Given the description of an element on the screen output the (x, y) to click on. 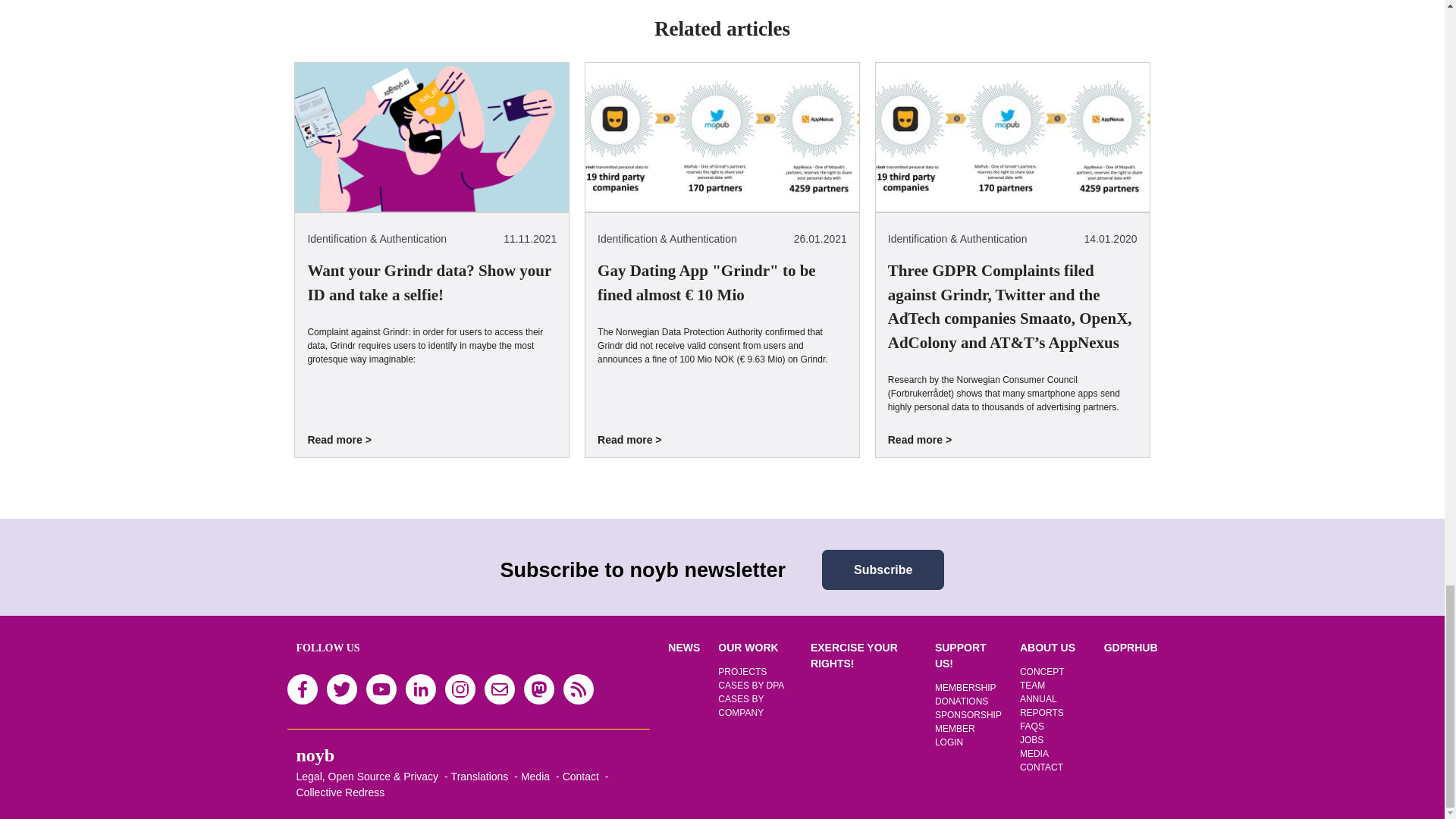
our projects and cases  (747, 647)
Search through all news (684, 647)
